Given the description of an element on the screen output the (x, y) to click on. 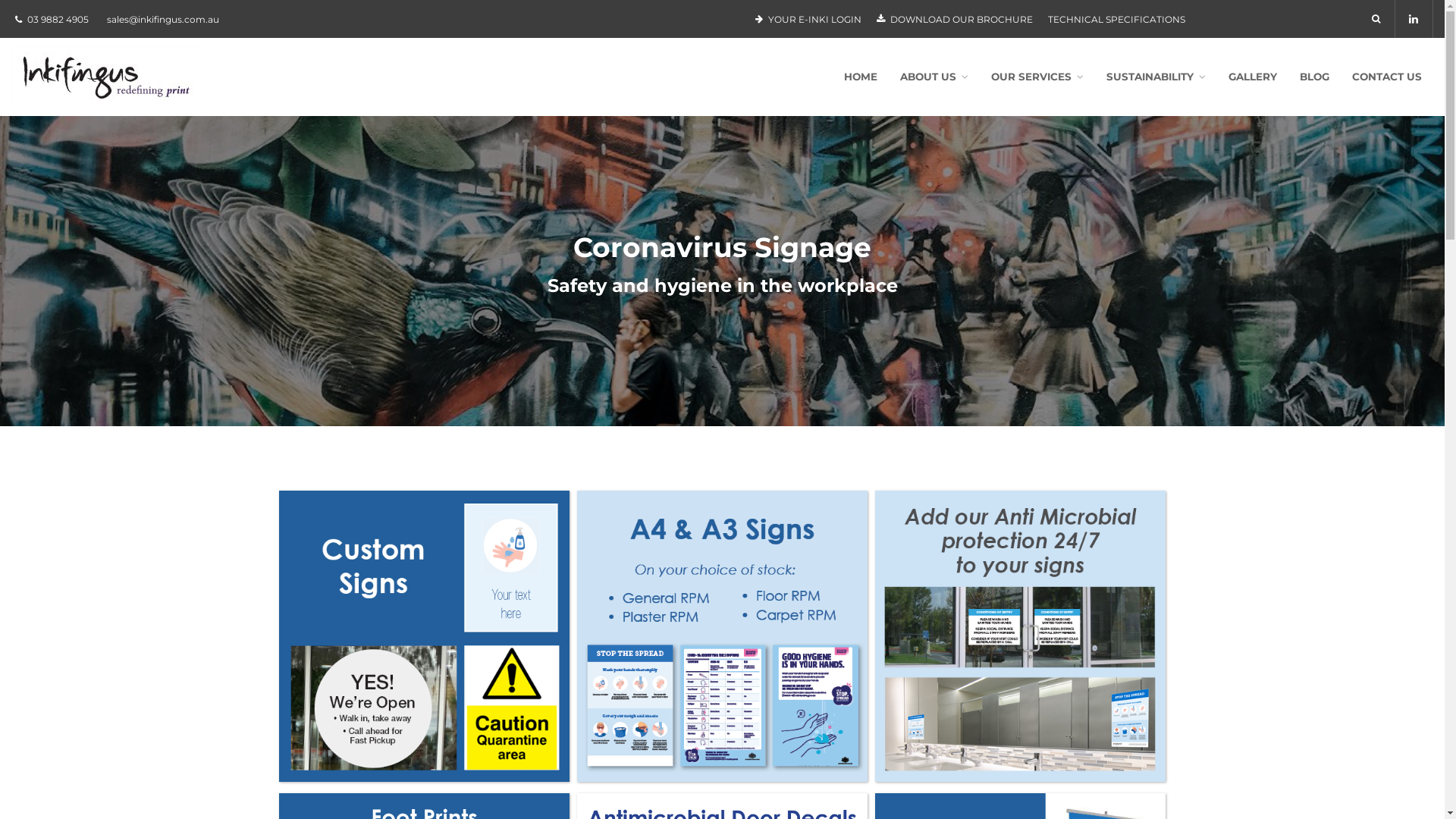
OUR SERVICES Element type: text (1037, 76)
YOUR E-INKI LOGIN Element type: text (808, 18)
DOWNLOAD OUR BROCHURE Element type: text (954, 18)
BLOG Element type: text (1314, 76)
ABOUT US Element type: text (933, 76)
03 9882 4905 Element type: text (58, 19)
CONTACT US Element type: text (1386, 76)
GALLERY Element type: text (1252, 76)
sales@inkifingus.com.au Element type: text (162, 19)
HOME Element type: text (860, 76)
SUSTAINABILITY Element type: text (1156, 76)
TECHNICAL SPECIFICATIONS Element type: text (1116, 18)
